Given the description of an element on the screen output the (x, y) to click on. 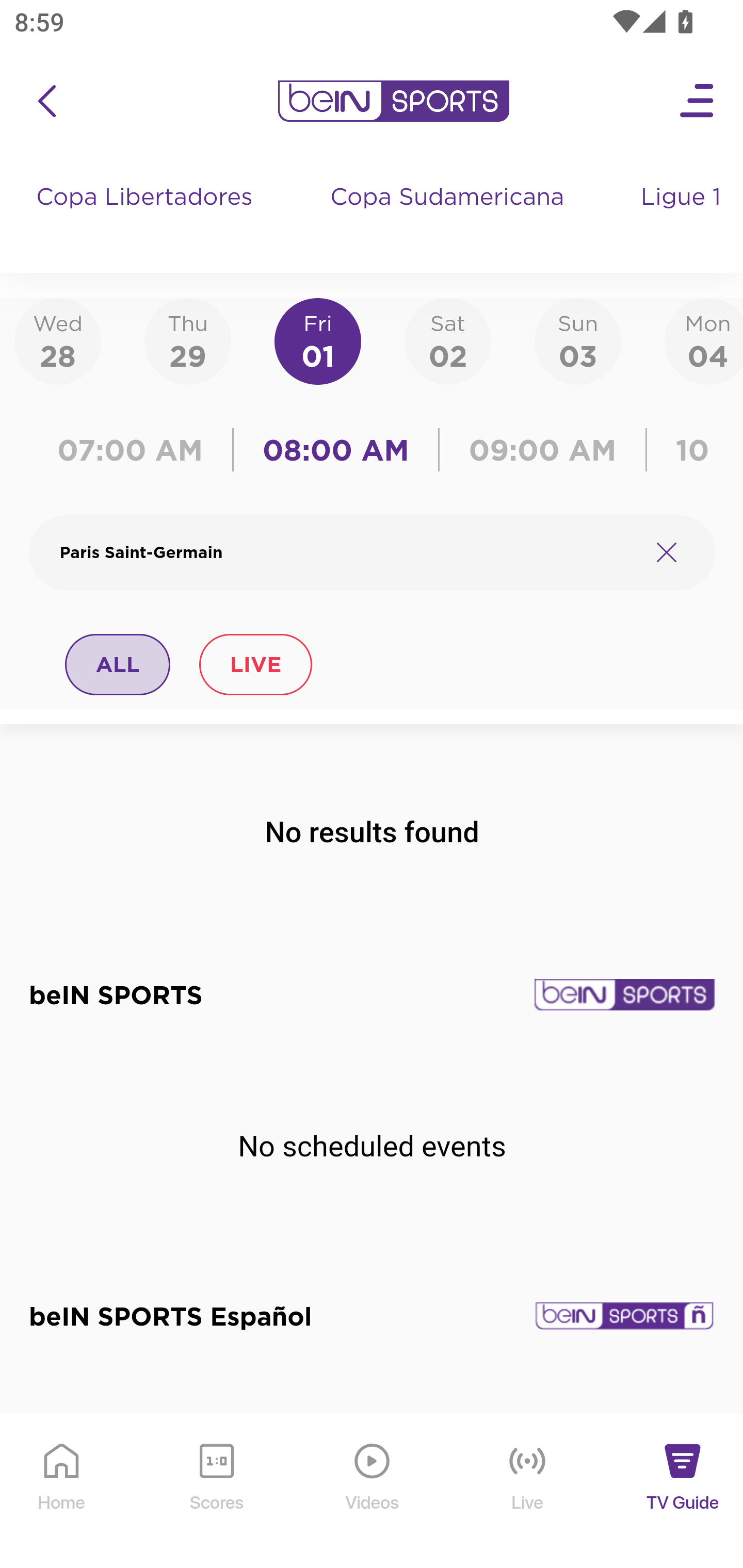
en-us?platform=mobile_android bein logo (392, 101)
icon back (46, 101)
Open Menu Icon (697, 101)
Copa Libertadores (146, 216)
Copa Sudamericana (448, 216)
Ligue 1 (682, 216)
Wed28 (58, 340)
Thu29 (187, 340)
Fri01 (318, 340)
Sat02 (447, 340)
Sun03 (578, 340)
Mon04 (703, 340)
07:00 AM (135, 449)
08:00 AM (336, 449)
09:00 AM (542, 449)
Paris Saint-Germain (346, 552)
ALL (118, 663)
LIVE (255, 663)
Home Home Icon Home (61, 1491)
Scores Scores Icon Scores (216, 1491)
Videos Videos Icon Videos (372, 1491)
TV Guide TV Guide Icon TV Guide (682, 1491)
